Given the description of an element on the screen output the (x, y) to click on. 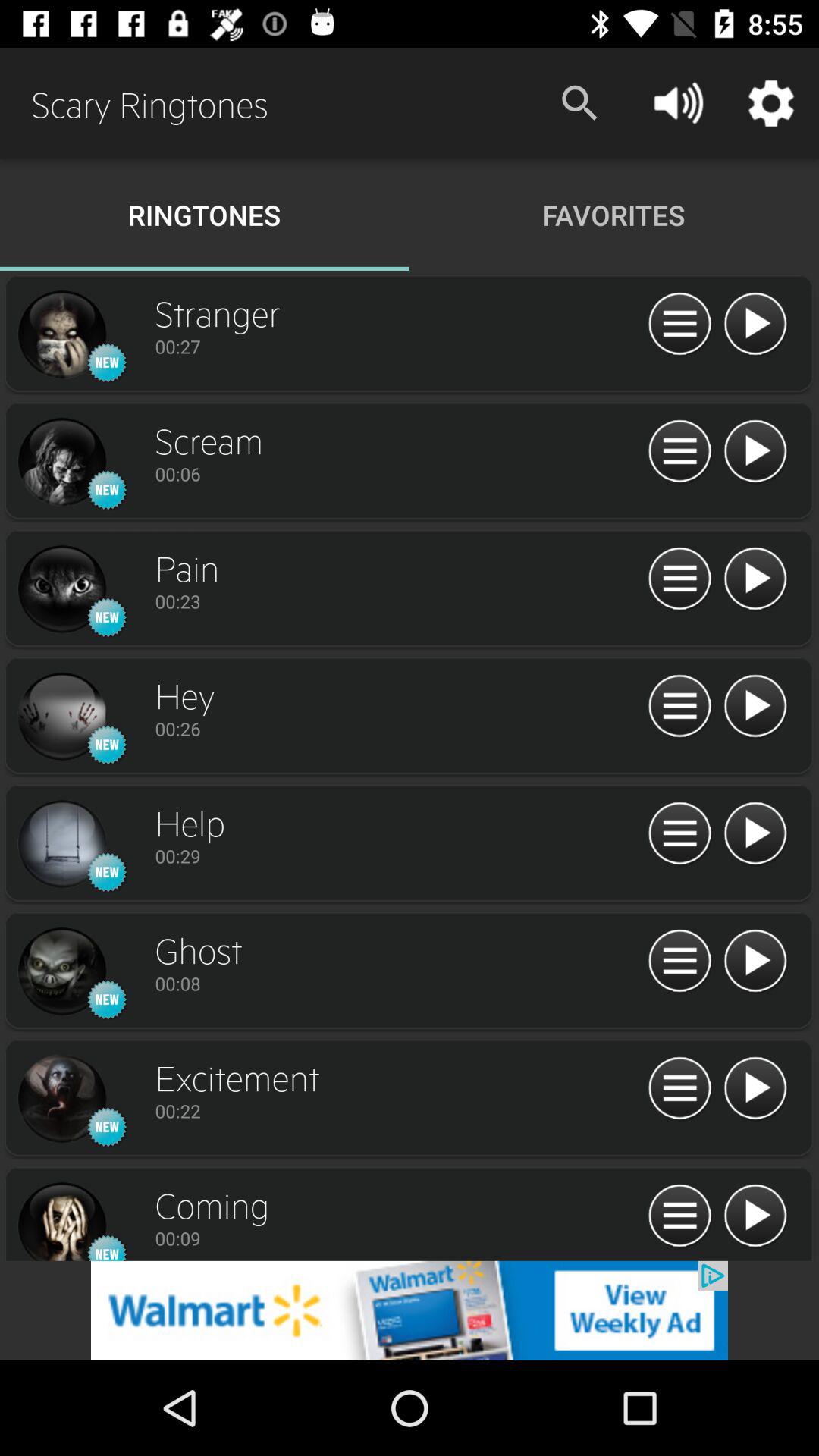
play ringtone (755, 834)
